Given the description of an element on the screen output the (x, y) to click on. 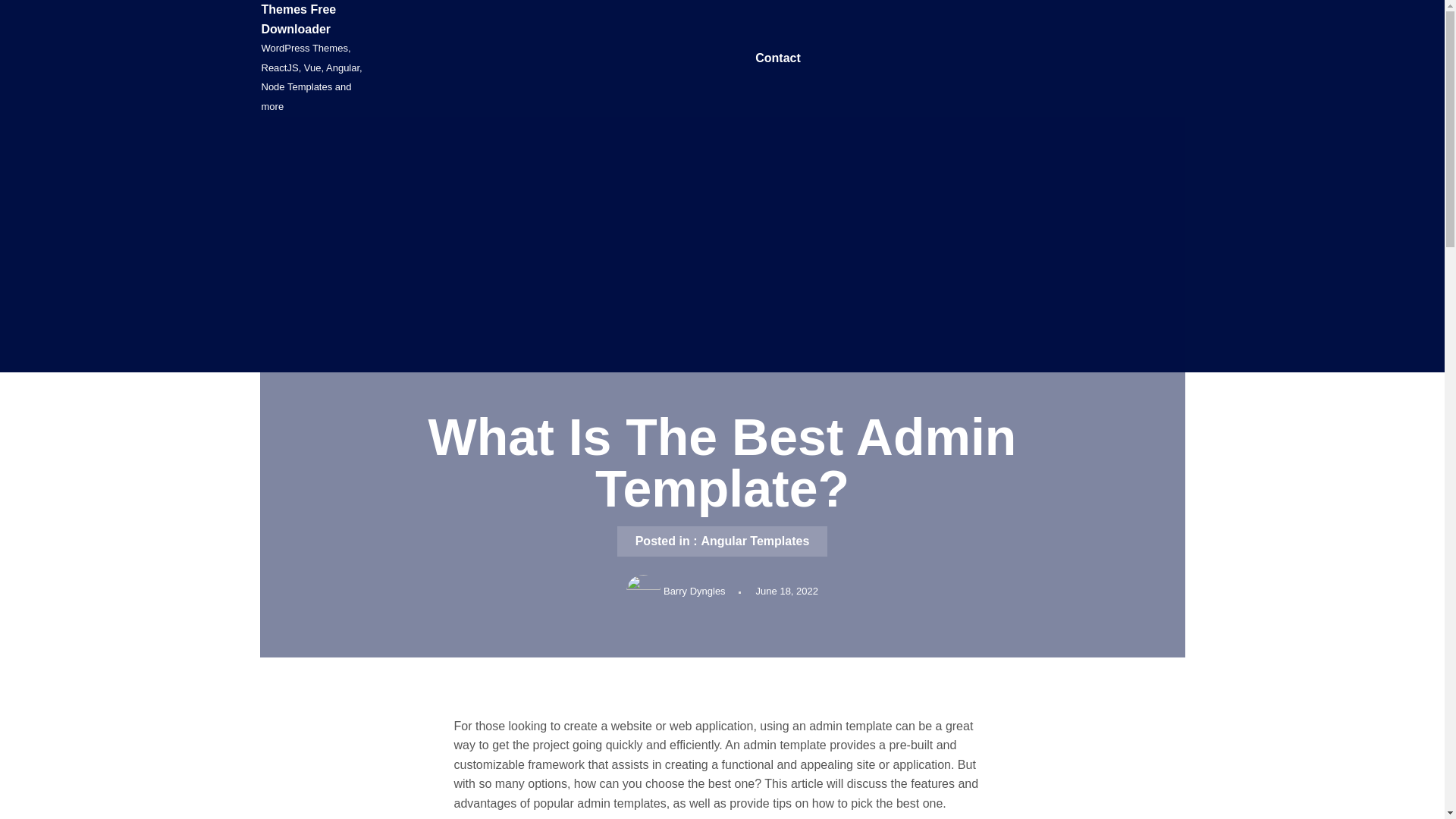
Contact (777, 58)
Themes Free Downloader (298, 19)
Angular Templates (754, 540)
